Given the description of an element on the screen output the (x, y) to click on. 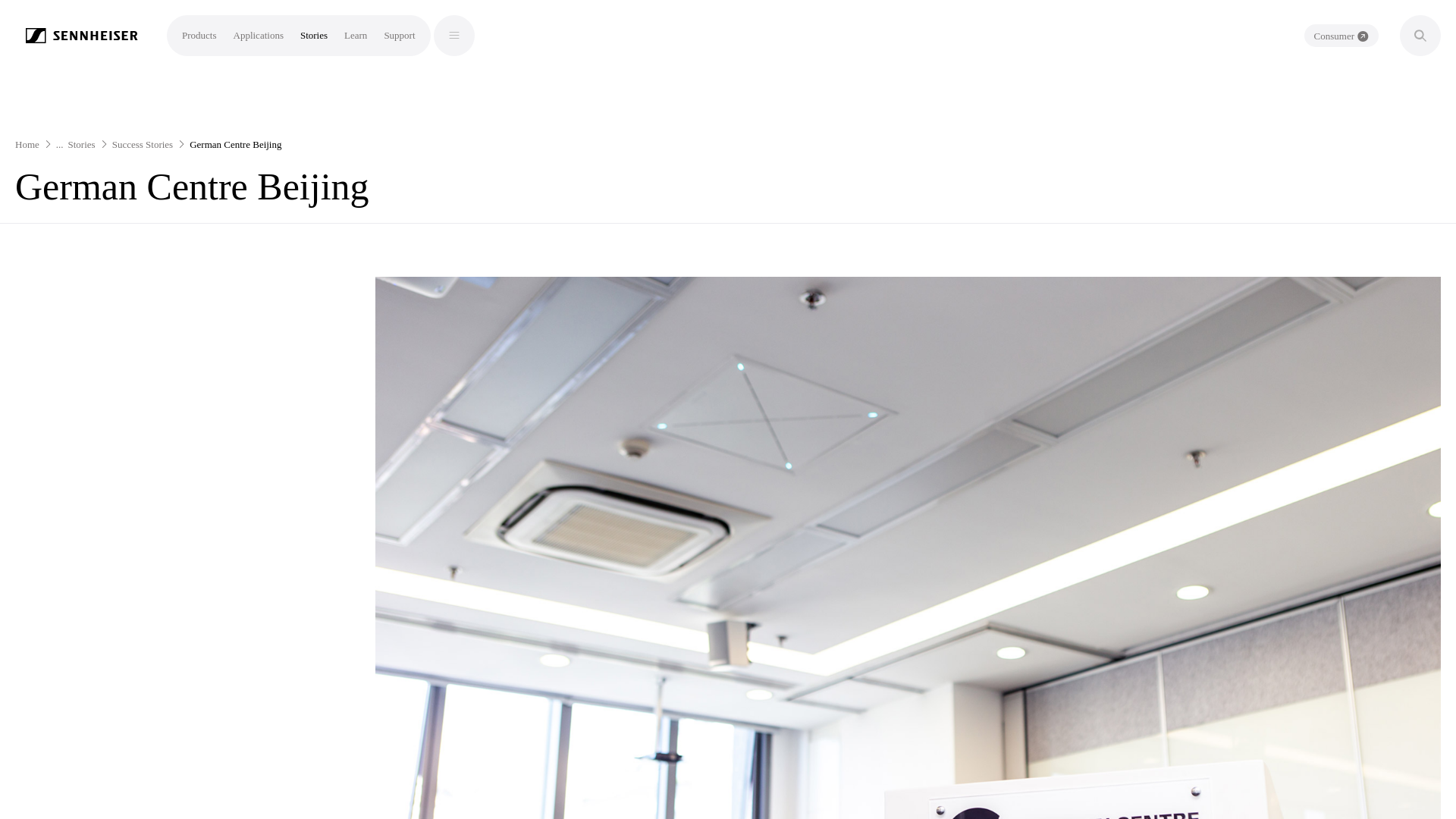
Products (199, 35)
Stories (313, 35)
Home (26, 144)
Learn (354, 35)
Success Stories (142, 144)
Support (399, 35)
Applications (257, 35)
Consumer (1341, 35)
Stories (82, 144)
